Given the description of an element on the screen output the (x, y) to click on. 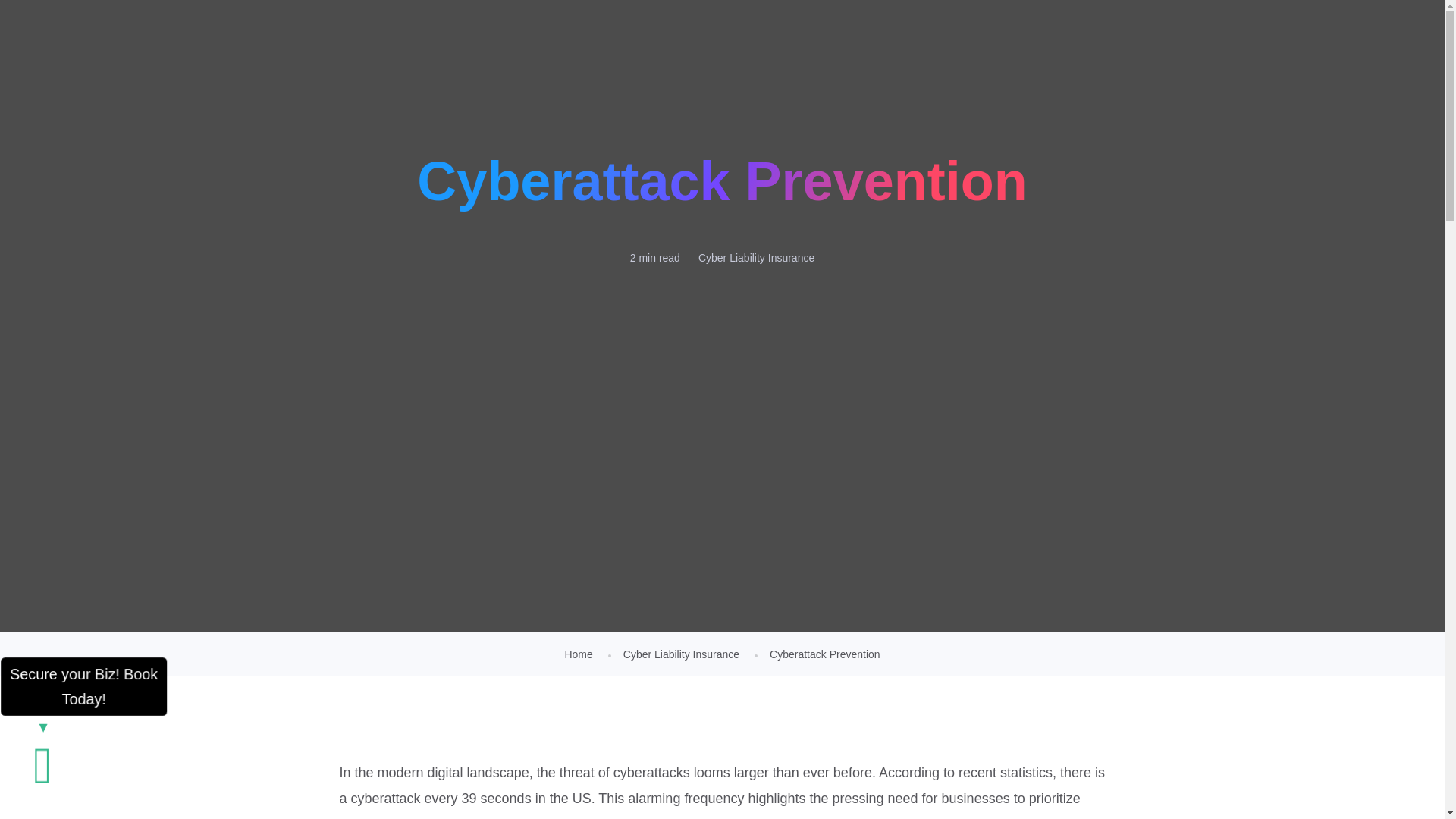
Home (578, 654)
Cyber Liability Insurance (681, 654)
Cyber Liability Insurance (755, 257)
Home (578, 654)
Cyberattack Prevention (825, 654)
